Given the description of an element on the screen output the (x, y) to click on. 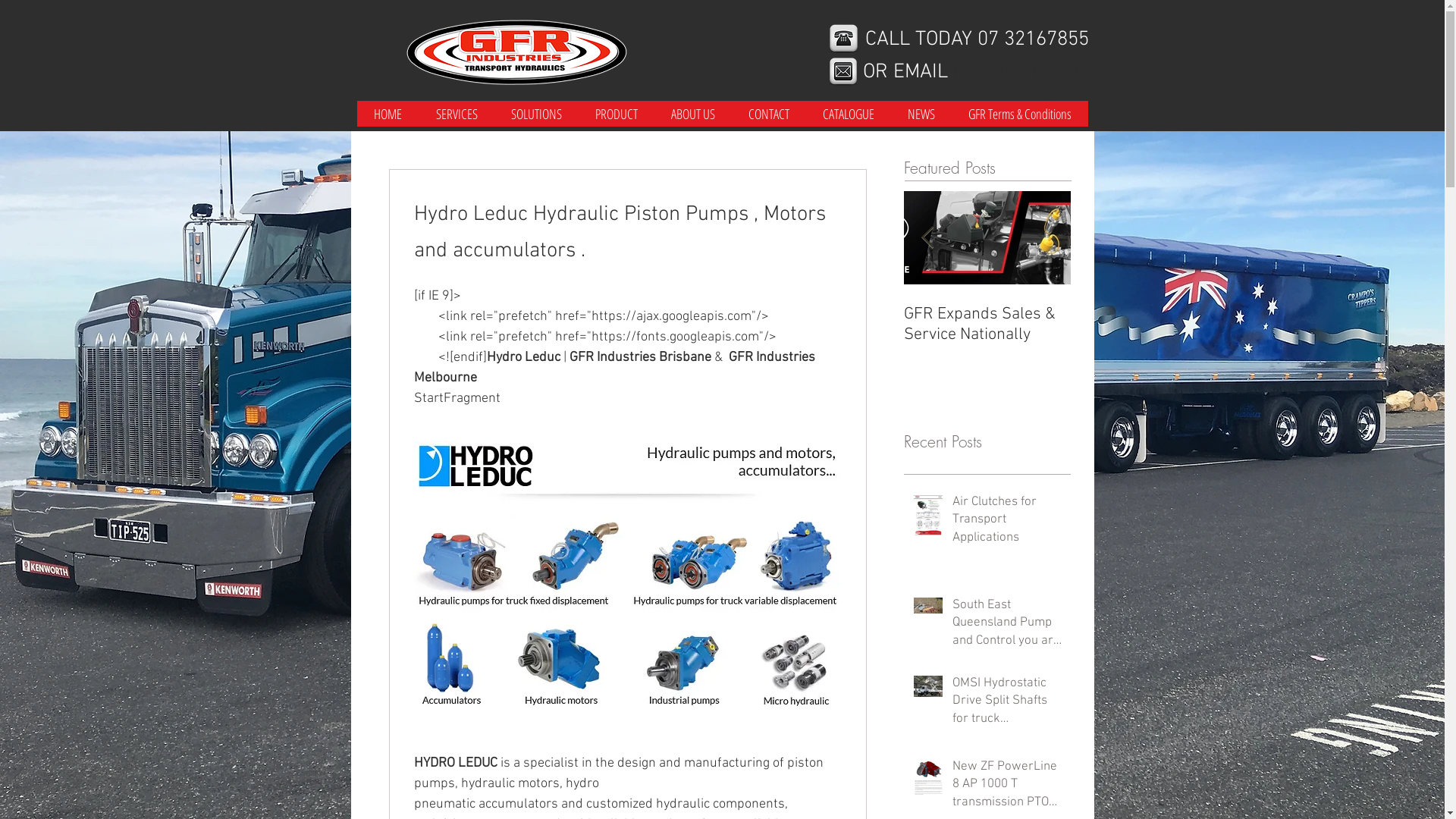
SOLUTIONS Element type: text (536, 113)
ABOUT US Element type: text (692, 113)
Air Clutches for Transport Applications Element type: text (1006, 523)
PRODUCT Element type: text (615, 113)
SERVICES Element type: text (455, 113)
New ZF PowerLine 8 AP 1000 T transmission PTO Available Element type: text (1006, 788)
NEWS Element type: text (920, 113)
CATALOGUE Element type: text (847, 113)
GFR Terms & Conditions Element type: text (1018, 113)
HOME Element type: text (387, 113)
info@gfr.net.au Element type: text (1018, 71)
GFR Expands Sales & Service Nationally Element type: text (986, 324)
CONTACT Element type: text (768, 113)
